Given the description of an element on the screen output the (x, y) to click on. 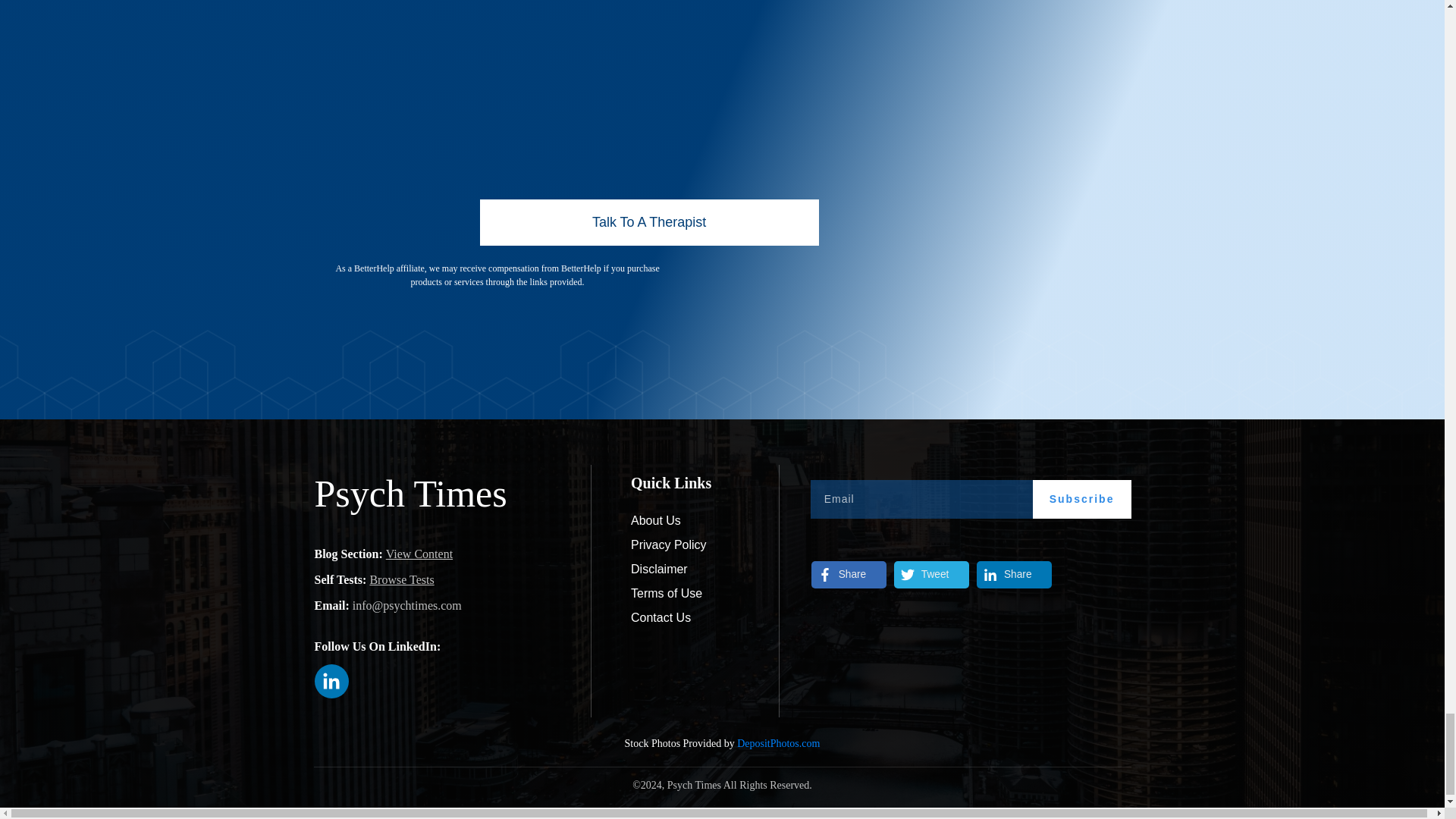
Browse Tests (401, 578)
About Us (655, 520)
Subscribe (1081, 498)
Terms of Use (665, 593)
View Content (418, 553)
Disclaimer (658, 569)
Contact Us (660, 617)
Privacy Policy (668, 545)
Talk To A Therapist (648, 222)
